Given the description of an element on the screen output the (x, y) to click on. 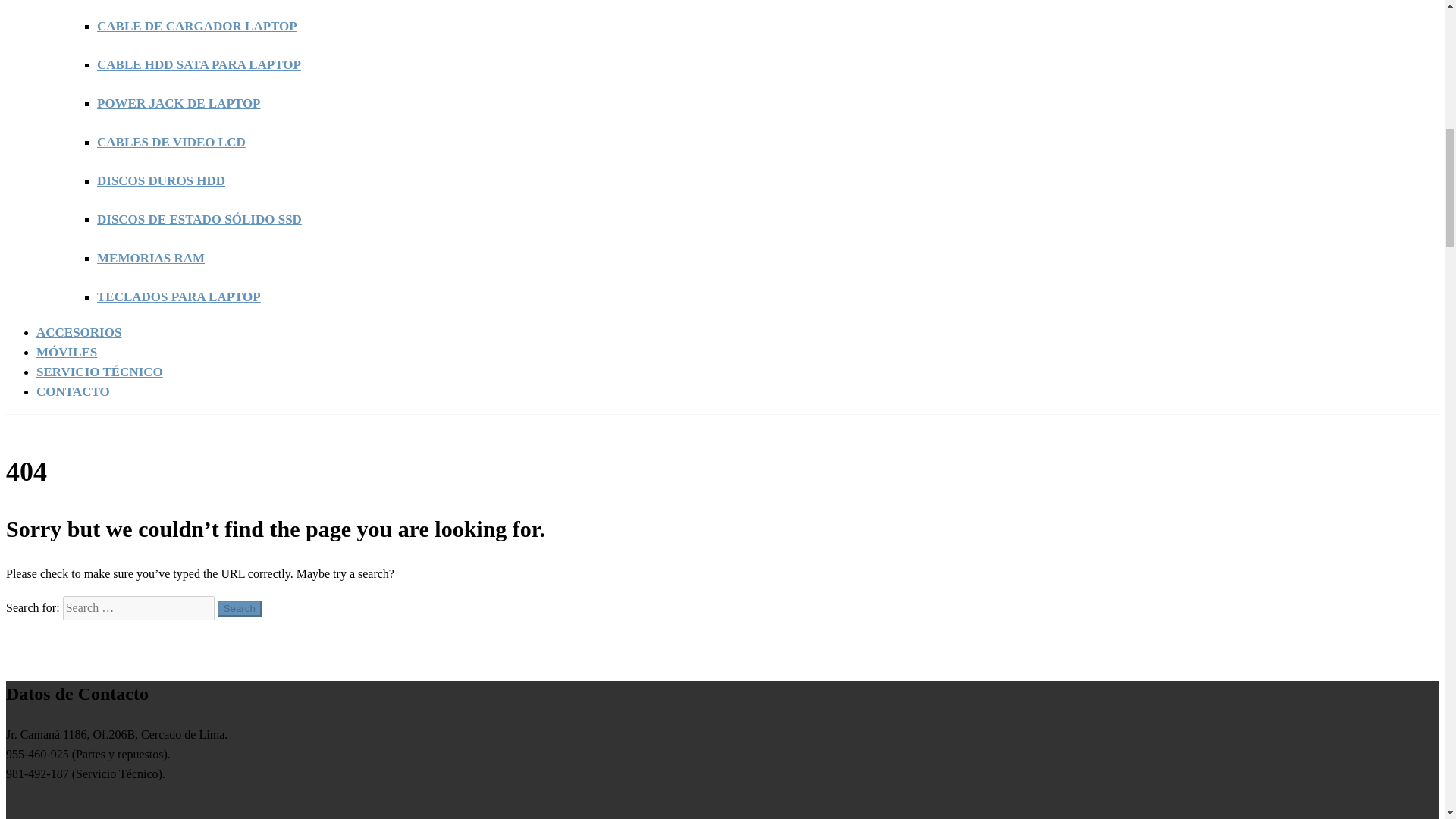
Search (239, 608)
ACCESORIOS (78, 332)
CABLE HDD SATA PARA LAPTOP (199, 64)
Search (239, 608)
CONTACTO (73, 391)
CABLES DE VIDEO LCD (171, 142)
DISCOS DUROS HDD (161, 180)
POWER JACK DE LAPTOP (178, 103)
CABLE DE CARGADOR LAPTOP (197, 25)
Search (239, 608)
MEMORIAS RAM (151, 257)
TECLADOS PARA LAPTOP (178, 296)
